Given the description of an element on the screen output the (x, y) to click on. 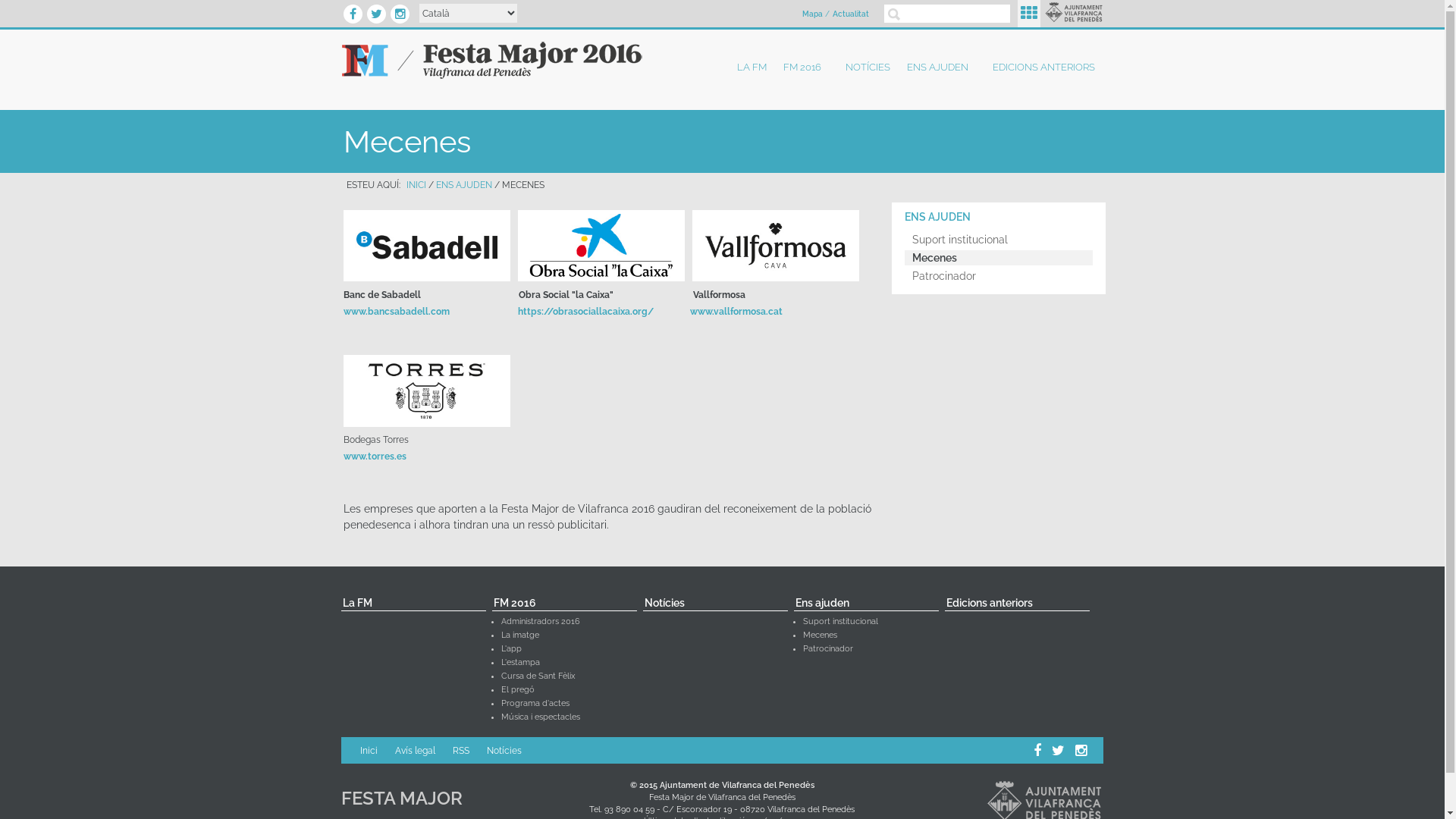
Mecenes Element type: text (820, 635)
Suport institucional Element type: text (840, 621)
Inici Element type: hover (492, 60)
Mecenes Element type: text (998, 257)
Ens ajuden Element type: text (865, 603)
L'estampa Element type: text (520, 662)
Patrocinador Element type: text (998, 275)
Edicions anteriors Element type: text (1016, 603)
Mapa Element type: text (812, 14)
INICI Element type: text (416, 184)
RSS Element type: text (460, 750)
www.torres.es Element type: text (373, 456)
L'app Element type: text (511, 648)
Administradors 2016 Element type: text (540, 621)
EDICIONS ANTERIORS Element type: text (1043, 66)
https://obrasociallacaixa.org/ Element type: text (584, 311)
www.bancsabadell.com Element type: text (395, 311)
ENS AJUDEN Element type: text (463, 184)
ENS AJUDEN Element type: text (998, 216)
www.vallformosa.cat Element type: text (736, 309)
Patrocinador Element type: text (828, 648)
Actualitat Element type: text (850, 14)
La imatge Element type: text (520, 635)
Suport institucional Element type: text (998, 239)
FM 2016 Element type: text (564, 603)
FM 2016 Element type: text (805, 66)
LA FM Element type: text (751, 66)
La FM Element type: text (413, 603)
ENS AJUDEN Element type: text (941, 66)
Programa d'actes Element type: text (535, 703)
Inici Element type: text (368, 750)
